Given the description of an element on the screen output the (x, y) to click on. 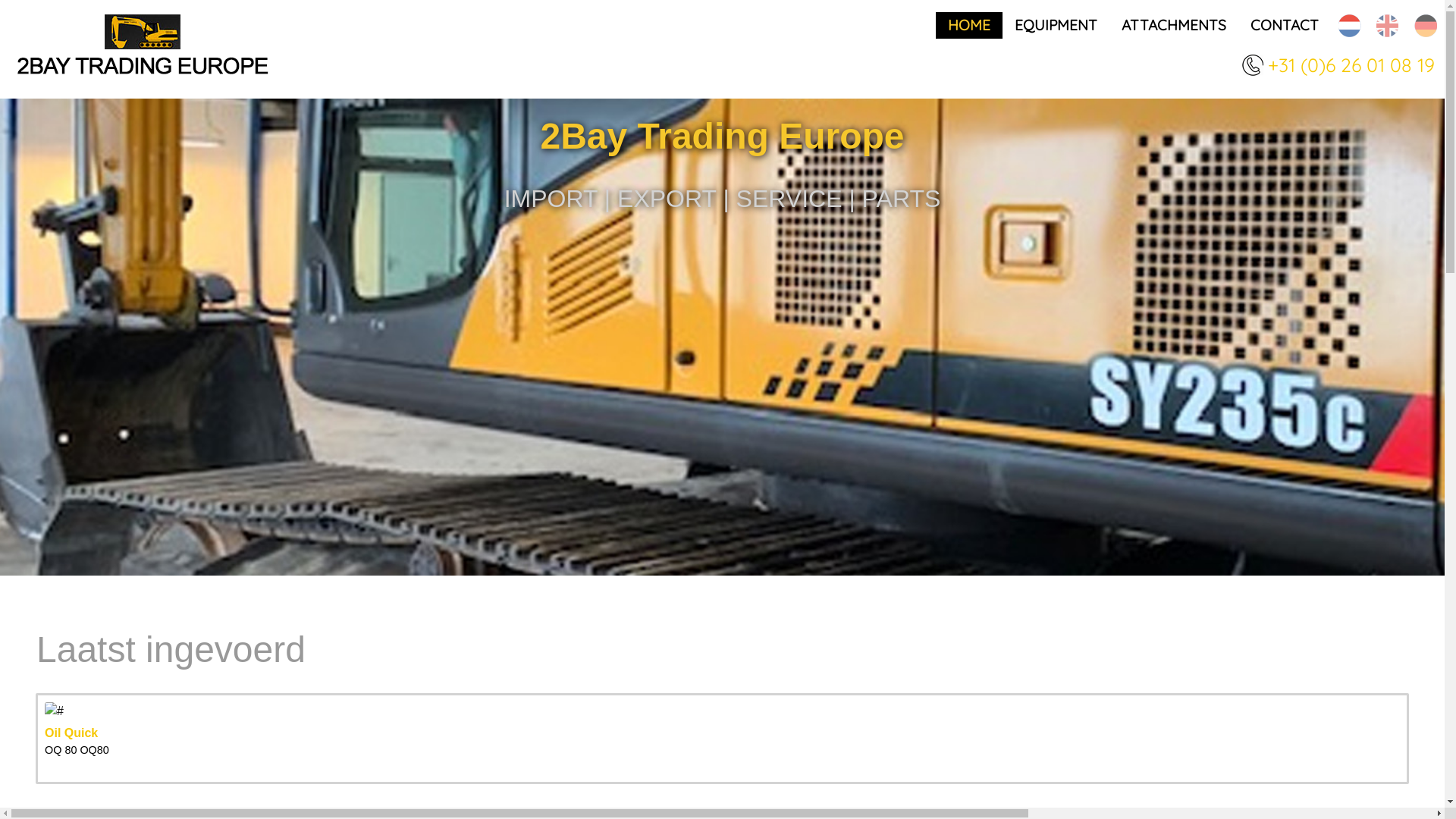
de Element type: text (1425, 25)
HOME Element type: text (968, 25)
ATTACHMENTS Element type: text (1173, 25)
en Element type: text (1387, 25)
CONTACT Element type: text (1284, 25)
EQUIPMENT Element type: text (1055, 25)
nl Element type: text (1349, 25)
+31 (0)6 26 01 08 19 Element type: text (1355, 64)
